Given the description of an element on the screen output the (x, y) to click on. 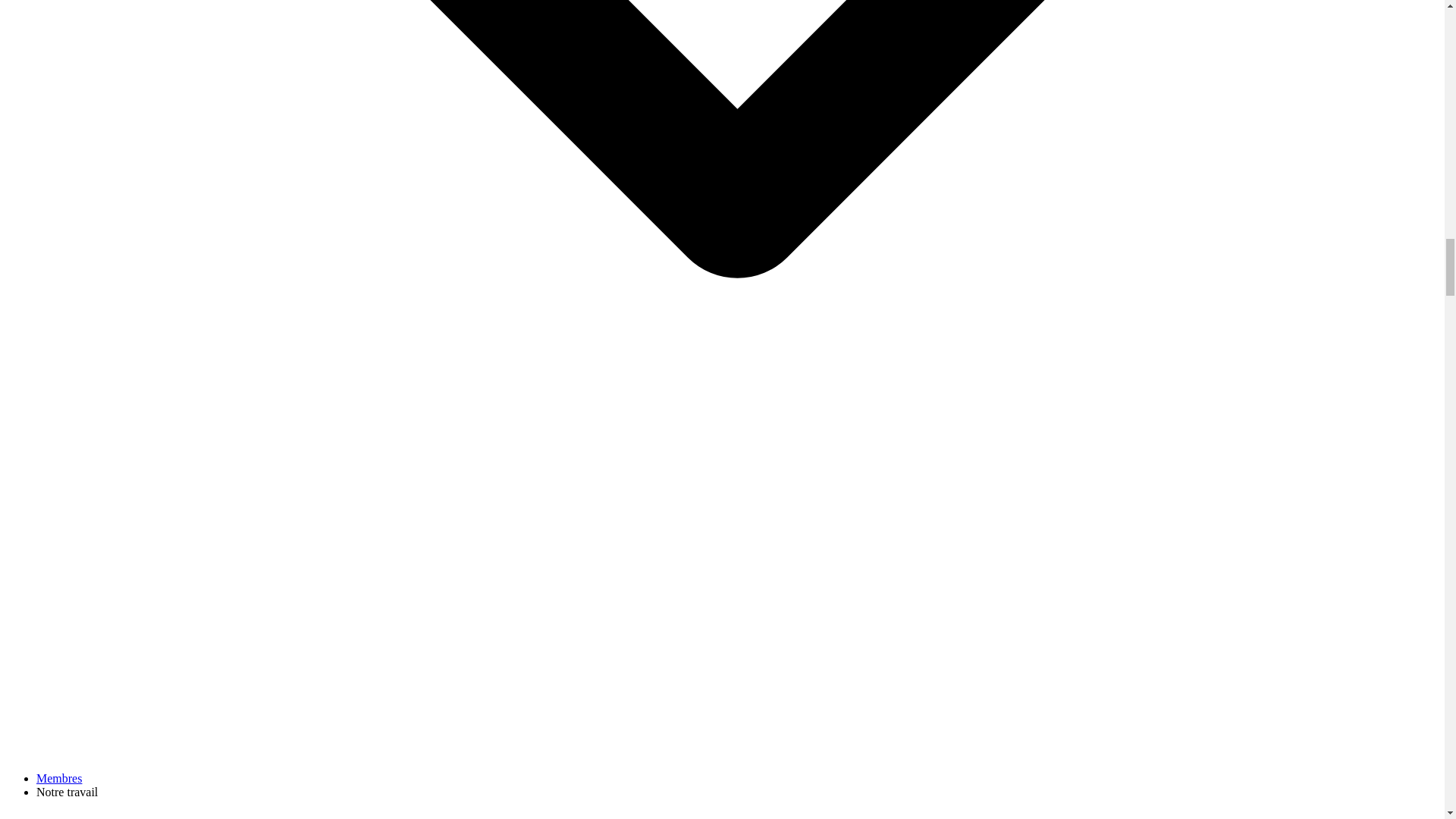
Membres (58, 778)
